Given the description of an element on the screen output the (x, y) to click on. 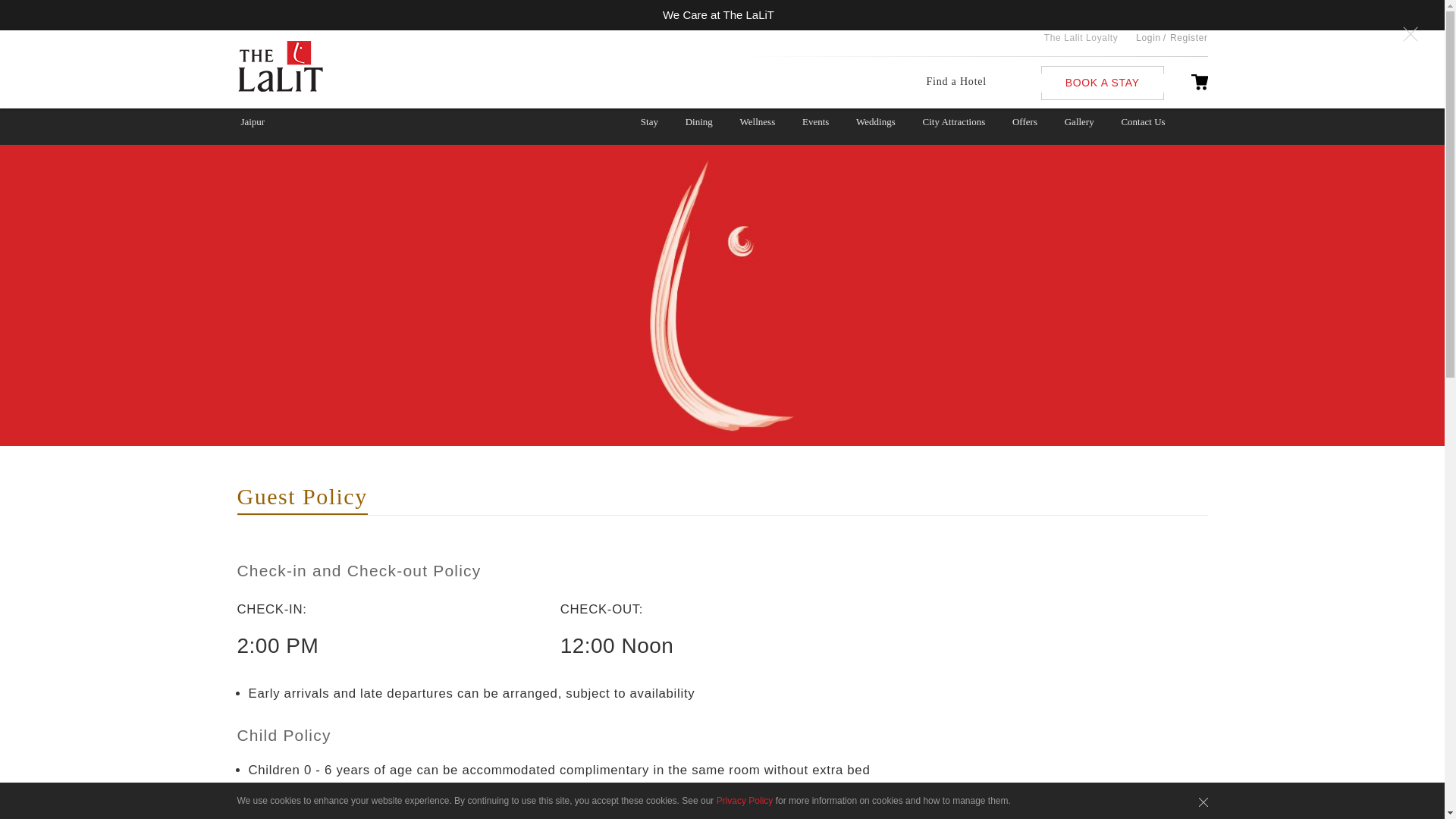
We Care at The LaLiT (721, 14)
The Lalit (310, 67)
The Lalit Loyalty (1080, 39)
